Given the description of an element on the screen output the (x, y) to click on. 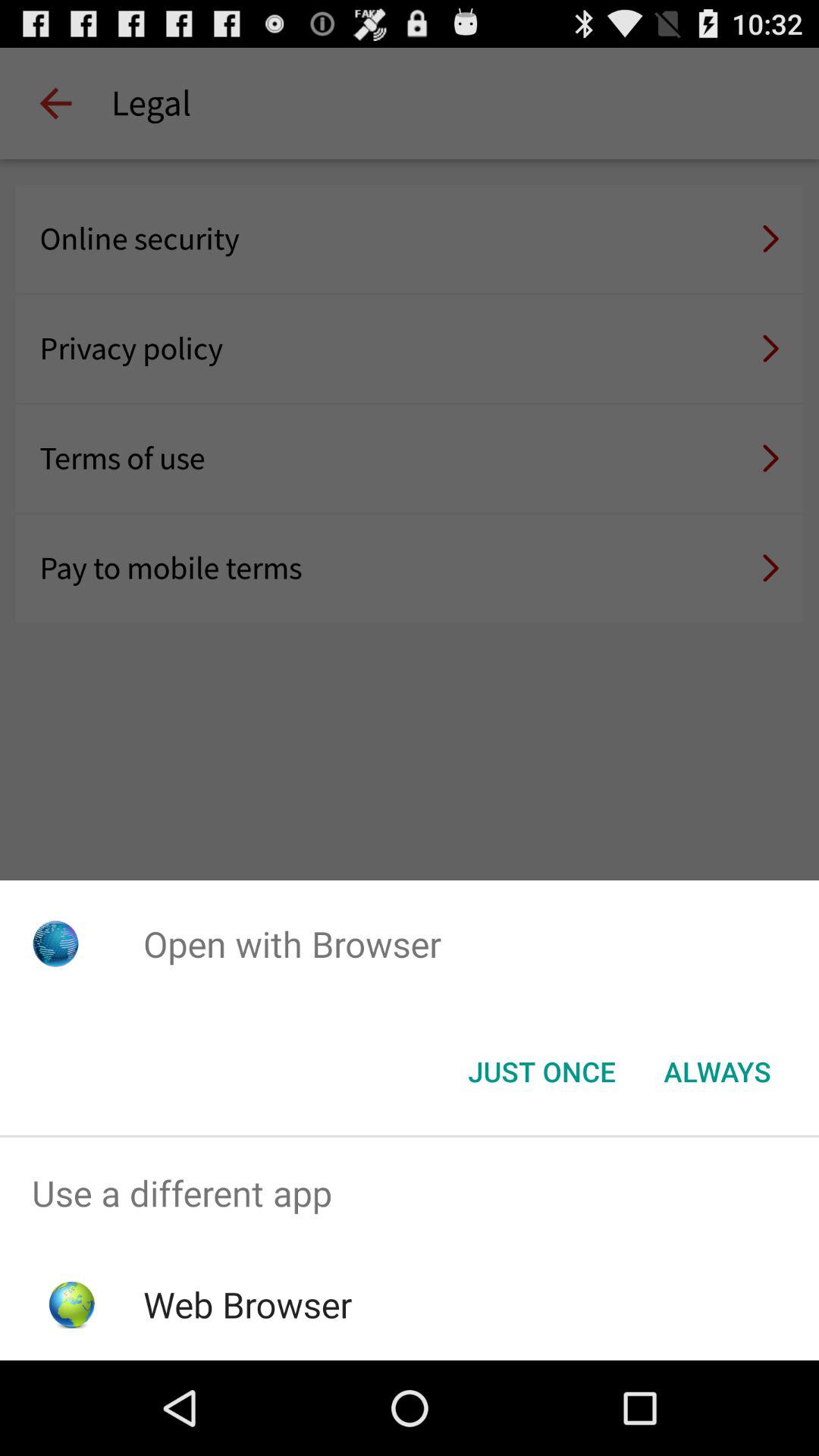
swipe until use a different app (409, 1192)
